Given the description of an element on the screen output the (x, y) to click on. 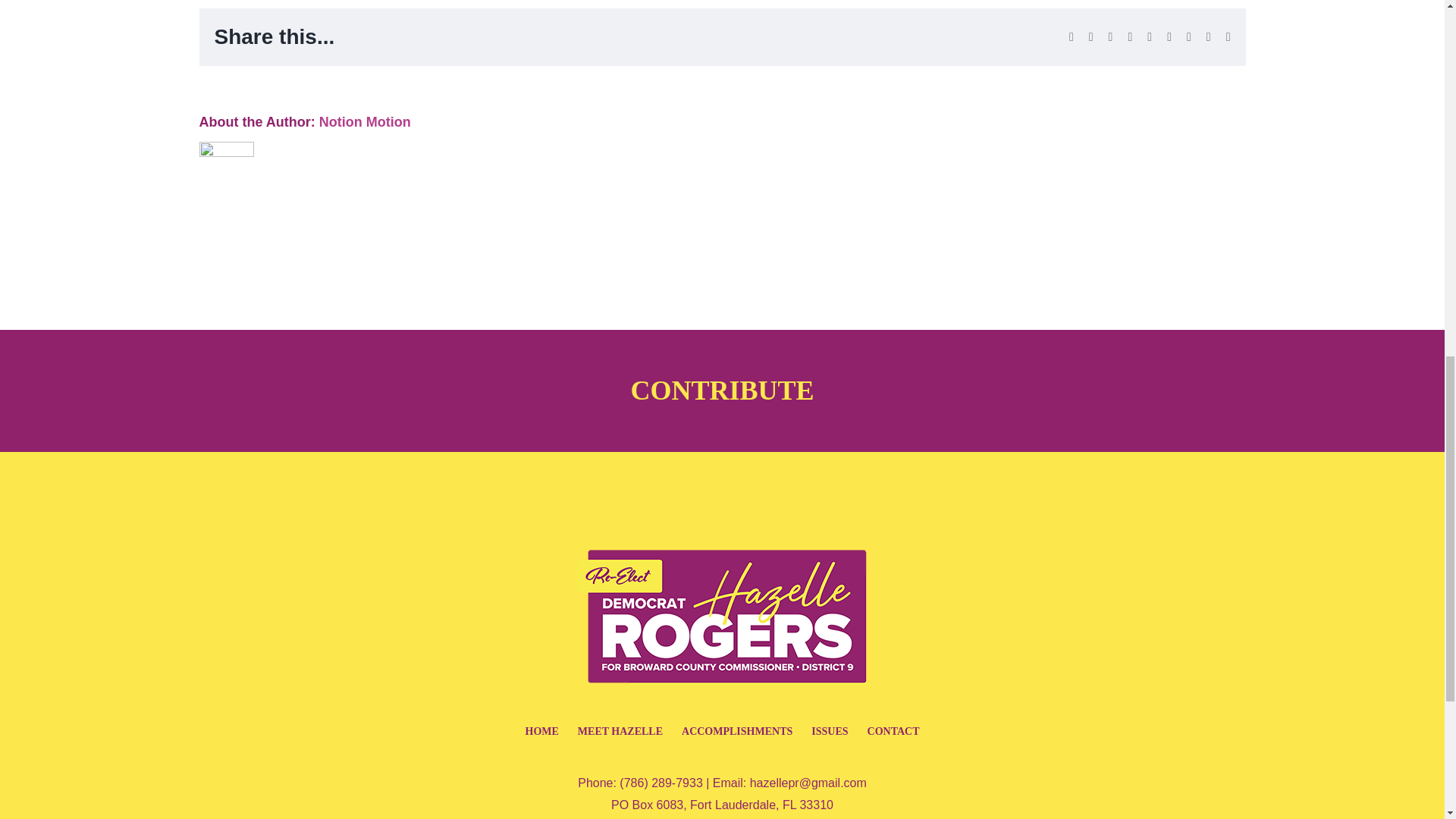
HOME (540, 731)
MEET HAZELLE (620, 731)
Notion Motion (364, 121)
Posts by Notion Motion (364, 121)
